Given the description of an element on the screen output the (x, y) to click on. 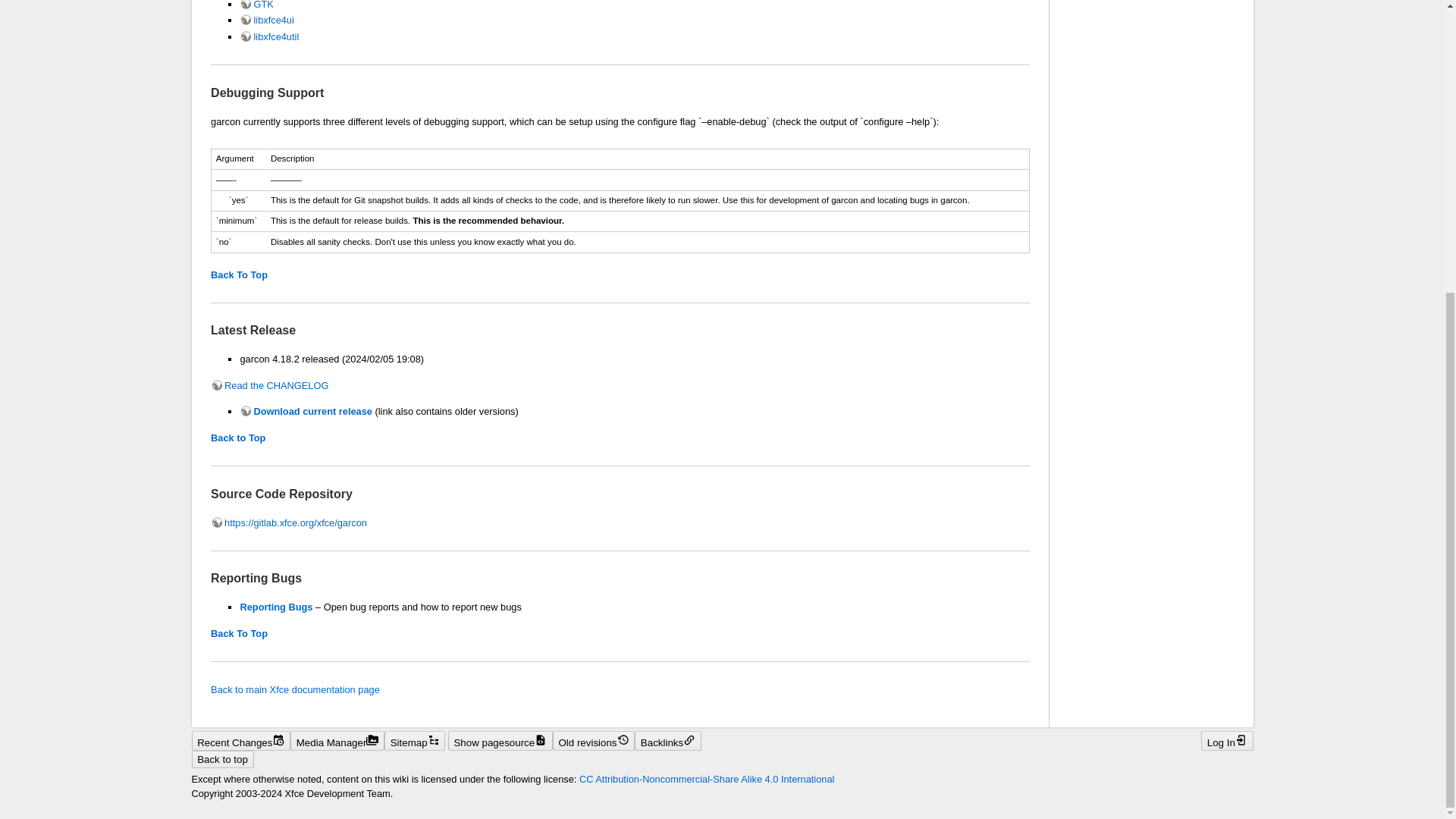
Reporting Bugs (276, 606)
GTK (256, 4)
Download current release (305, 410)
Back To Top (239, 633)
Media Manager (336, 741)
Read the CHANGELOG (270, 385)
Recent Changes (239, 741)
libxfce4util (269, 36)
libxfce4ui (267, 19)
Sitemap (414, 741)
Back To Top (239, 274)
Back to Top (237, 437)
Back to main Xfce documentation page (295, 689)
